Given the description of an element on the screen output the (x, y) to click on. 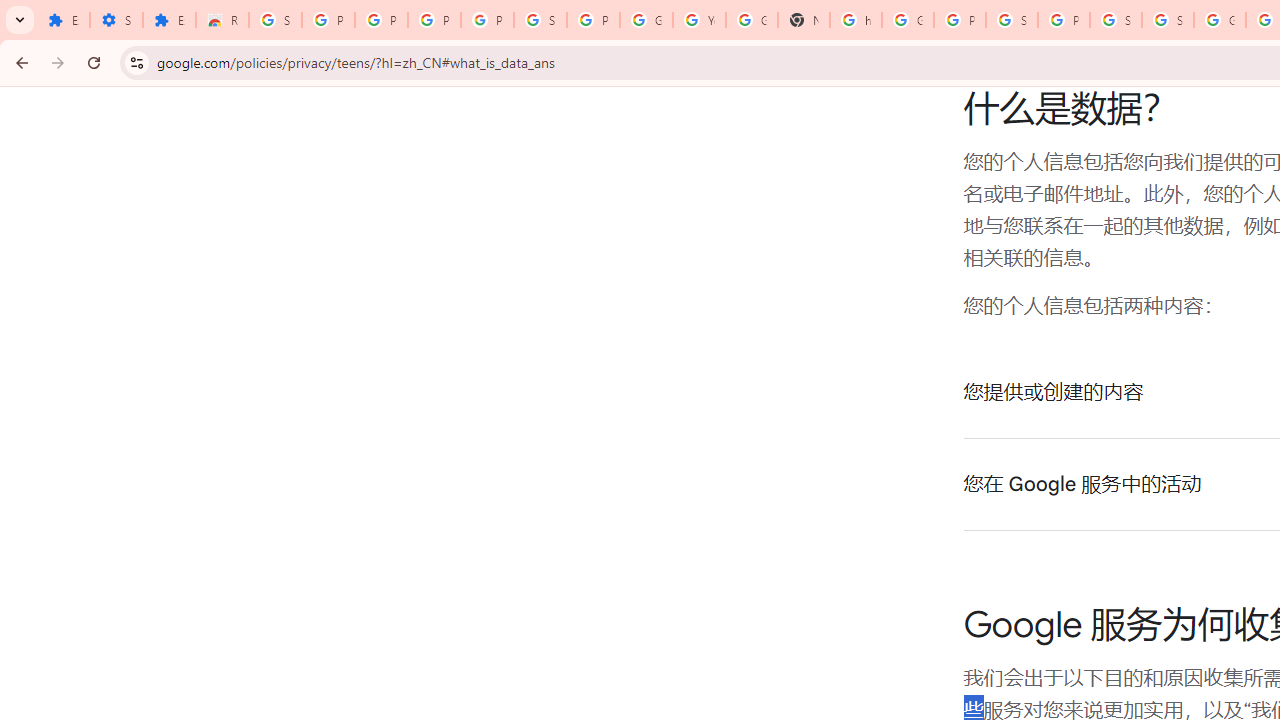
Sign in - Google Accounts (1011, 20)
Sign in - Google Accounts (540, 20)
Extensions (169, 20)
Extensions (63, 20)
Sign in - Google Accounts (275, 20)
Settings (116, 20)
